Given the description of an element on the screen output the (x, y) to click on. 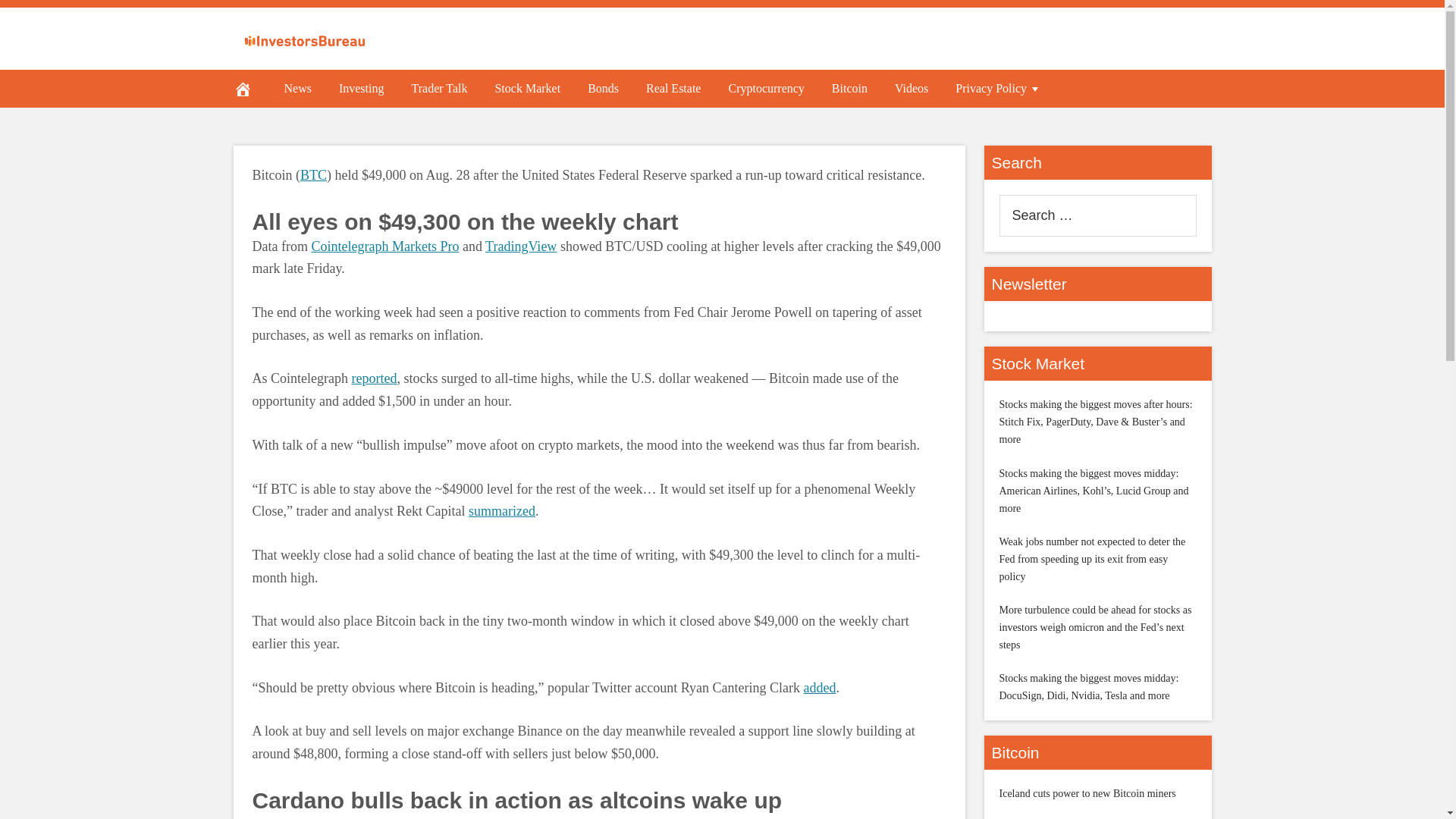
summarized (501, 510)
Real Estate (672, 88)
Stock Market (526, 88)
Privacy Policy (998, 88)
added (819, 687)
TradingView (520, 246)
Investing (360, 88)
reported (373, 378)
Cryptocurrency (765, 88)
Bitcoin (849, 88)
Videos (911, 88)
BTC (312, 174)
Trader Talk (438, 88)
